Given the description of an element on the screen output the (x, y) to click on. 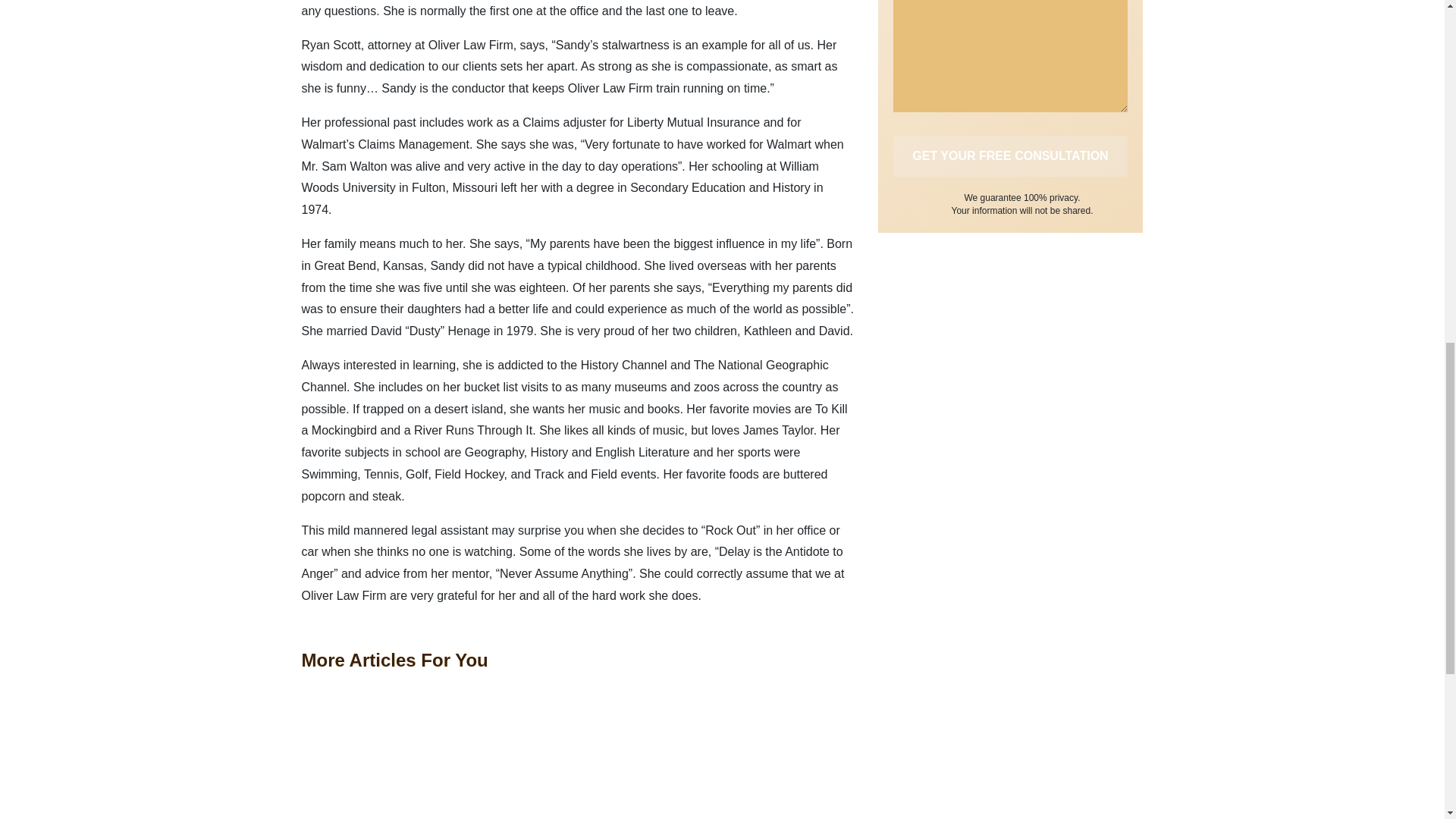
Get Your Free Consultation (1010, 155)
